Given the description of an element on the screen output the (x, y) to click on. 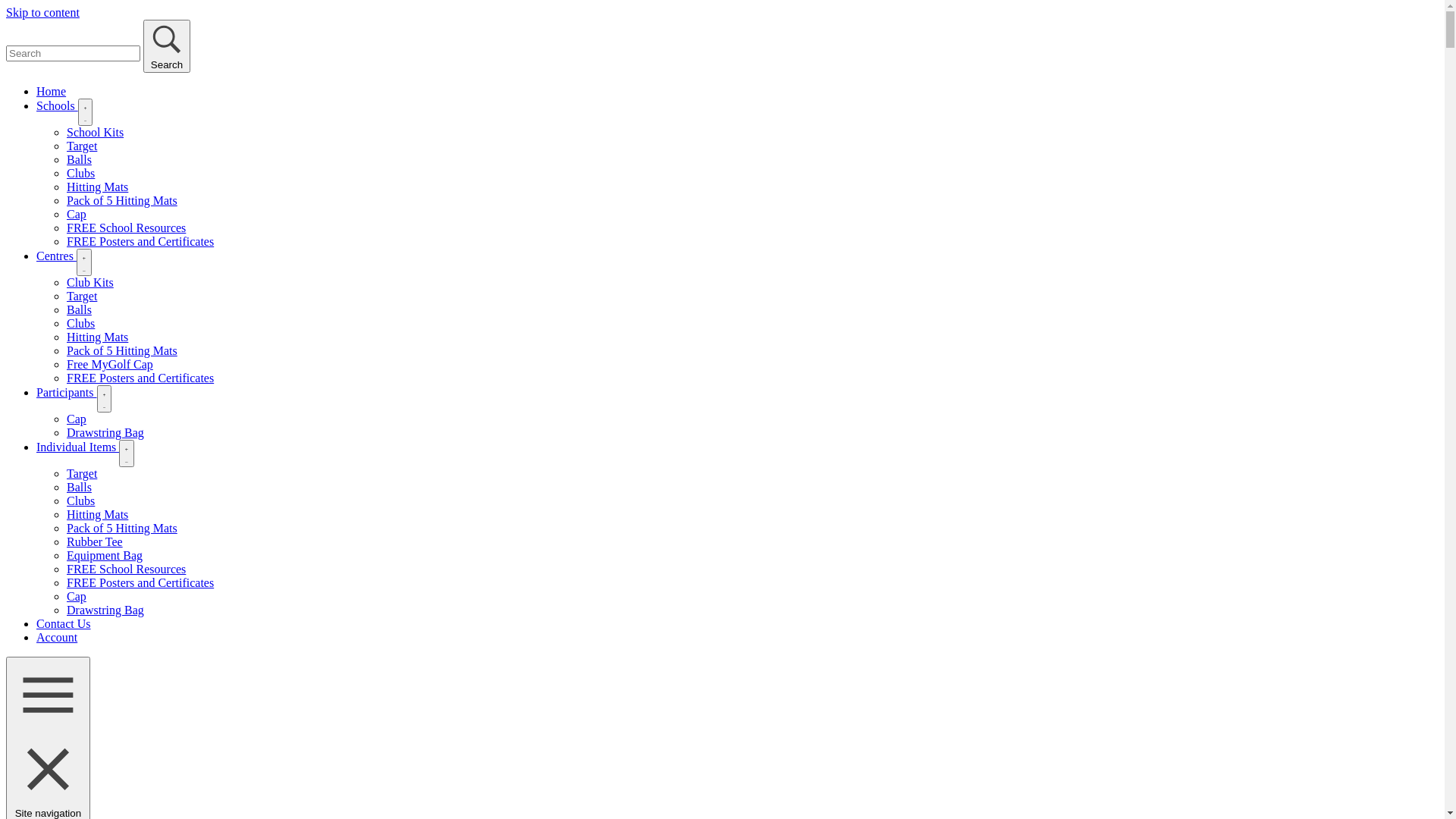
Centres Element type: text (56, 255)
Clubs Element type: text (80, 500)
Clubs Element type: text (80, 172)
Skip to content Element type: text (42, 12)
FREE Posters and Certificates Element type: text (139, 377)
Free MyGolf Cap Element type: text (109, 363)
Hitting Mats Element type: text (97, 186)
Club Kits Element type: text (89, 282)
Balls Element type: text (78, 159)
Cap Element type: text (76, 213)
FREE School Resources Element type: text (125, 568)
Pack of 5 Hitting Mats Element type: text (121, 527)
School Kits Element type: text (94, 131)
Individual Items Element type: text (77, 446)
Target Element type: text (81, 295)
Hitting Mats Element type: text (97, 336)
Target Element type: text (81, 145)
Drawstring Bag Element type: text (105, 432)
FREE School Resources Element type: text (125, 227)
Pack of 5 Hitting Mats Element type: text (121, 350)
Cap Element type: text (76, 595)
Participants Element type: text (66, 391)
Target Element type: text (81, 473)
Equipment Bag Element type: text (104, 555)
Cap Element type: text (76, 418)
Hitting Mats Element type: text (97, 514)
Pack of 5 Hitting Mats Element type: text (121, 200)
Balls Element type: text (78, 486)
Balls Element type: text (78, 309)
FREE Posters and Certificates Element type: text (139, 241)
Home Element type: text (50, 90)
Search Element type: text (166, 45)
Contact Us Element type: text (63, 623)
Drawstring Bag Element type: text (105, 609)
FREE Posters and Certificates Element type: text (139, 582)
Schools Element type: text (57, 105)
Rubber Tee Element type: text (94, 541)
Account Element type: text (56, 636)
Clubs Element type: text (80, 322)
